Given the description of an element on the screen output the (x, y) to click on. 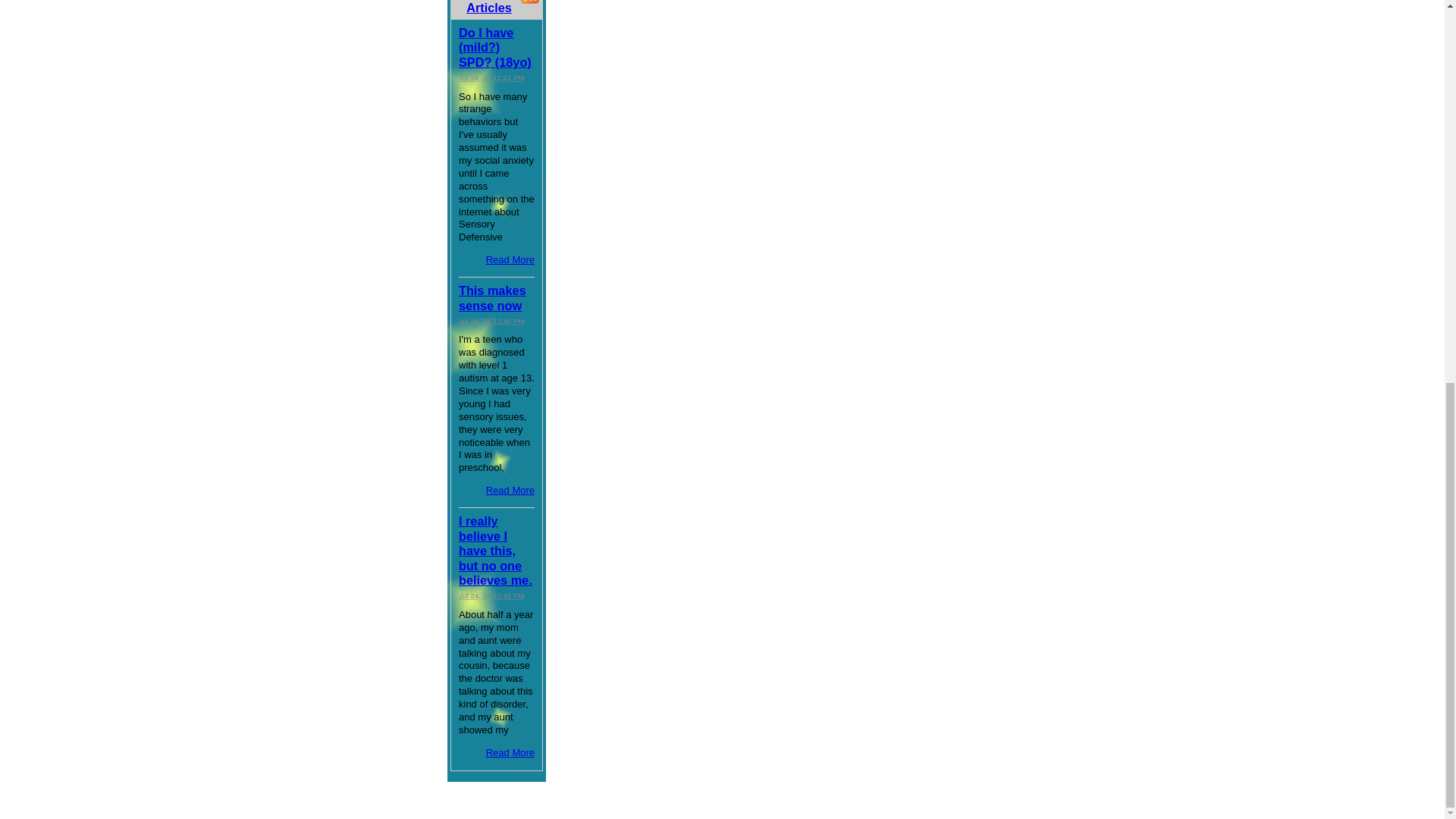
2024-07-24T12:51:03-0400 (491, 77)
This makes sense now (491, 297)
Read More (510, 259)
Recent Articles (488, 7)
2024-07-24T12:46:27-0400 (491, 320)
2024-07-24T12:42:43-0400 (491, 595)
